Given the description of an element on the screen output the (x, y) to click on. 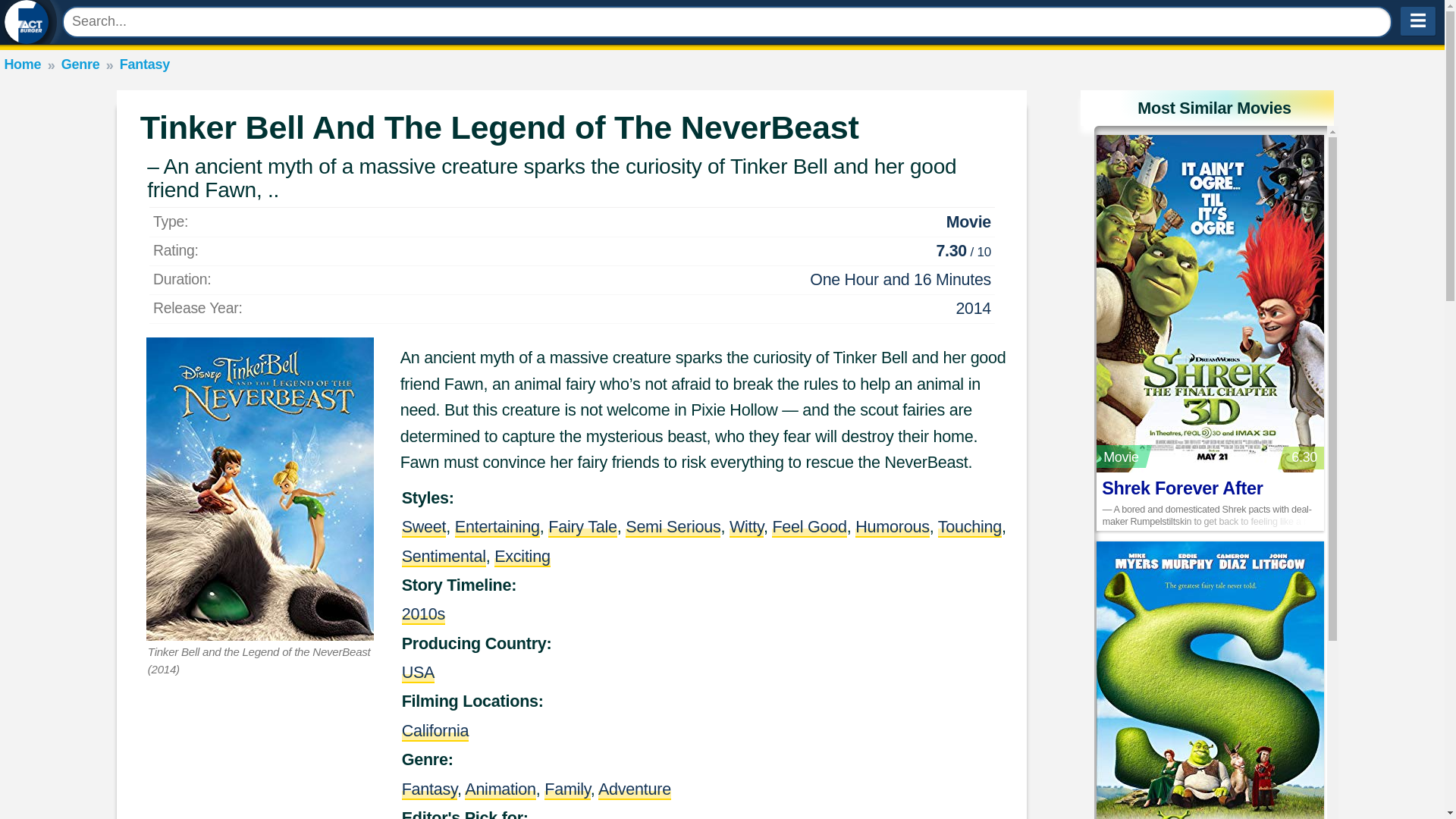
Fantasy (143, 63)
Feel Good (808, 526)
Touching (969, 526)
Entertaining (497, 526)
Sweet (423, 526)
Exciting (522, 556)
Witty (745, 526)
Home (22, 63)
Genre (79, 63)
Fairy Tale (582, 526)
